Given the description of an element on the screen output the (x, y) to click on. 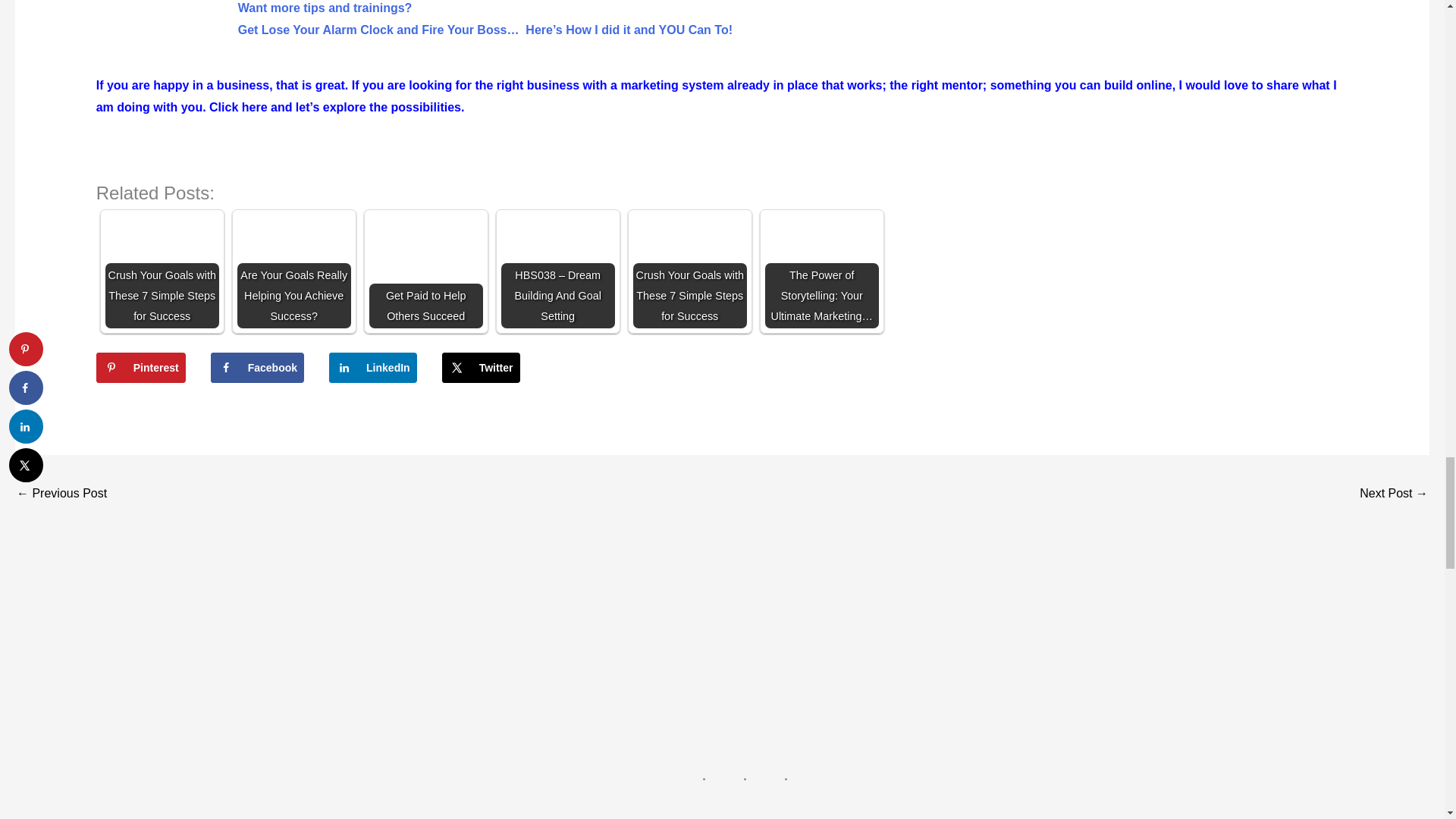
Pinterest (141, 367)
Lose Your Alarm Clock and Fire Your Boss (485, 18)
Crush Your Goals with These 7 Simple Steps for Success (161, 271)
Crush Your Goals with These 7 Simple Steps for Success (689, 271)
Crush Your Goals with These 7 Simple Steps for Success (161, 271)
Are Your Goals Really Helping You Achieve Success? (293, 271)
Get Paid to Help Others Succeed (426, 271)
Get Paid to Help Others Succeed (426, 271)
Are Your Goals Really Helping You Achieve Success? (293, 271)
